Given the description of an element on the screen output the (x, y) to click on. 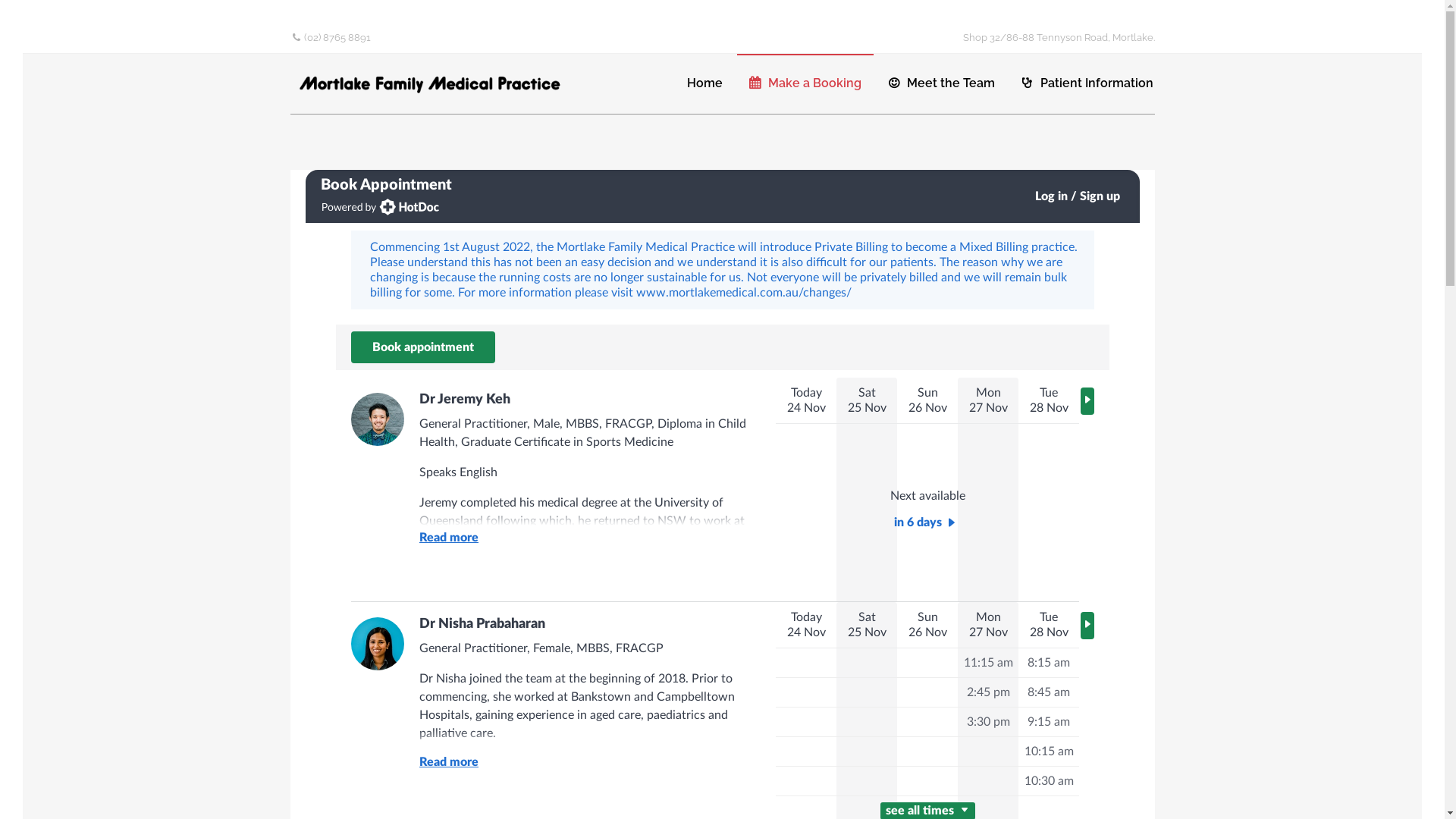
Patient Information Element type: text (1086, 83)
Meet the Team Element type: text (940, 83)
Mortlake Family Medical Practice Element type: hover (433, 83)
Make a Booking Element type: text (805, 83)
Home Element type: text (704, 83)
(02) 8765 8891 Element type: text (331, 37)
